Given the description of an element on the screen output the (x, y) to click on. 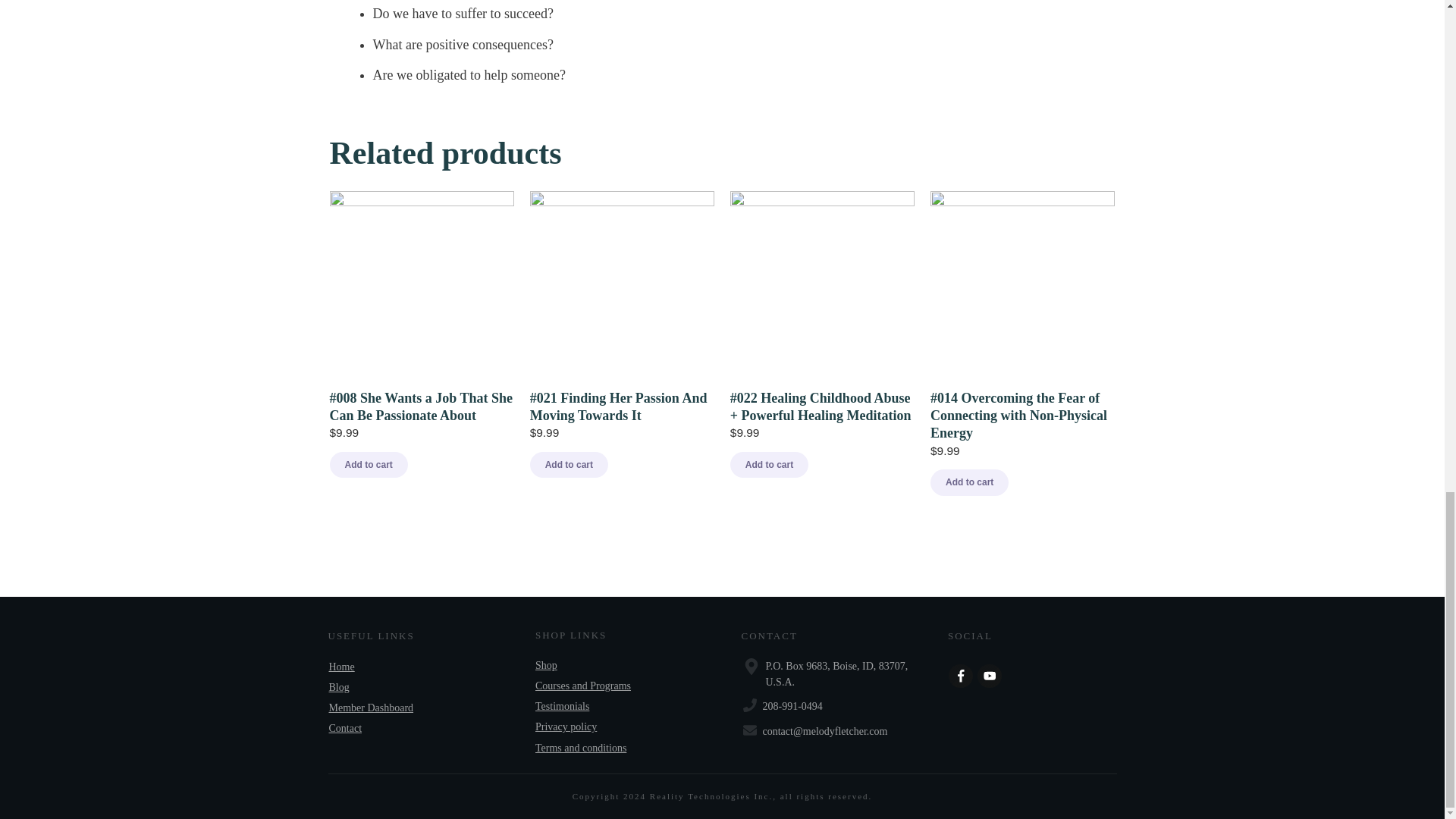
Privacy policy (565, 726)
Member Dashboard (371, 707)
Add to cart (769, 464)
Add to cart (368, 464)
Contact (345, 727)
Testimonials (562, 706)
Add to cart (969, 482)
Terms and conditions (580, 747)
Shop (546, 665)
Add to cart (568, 464)
